Given the description of an element on the screen output the (x, y) to click on. 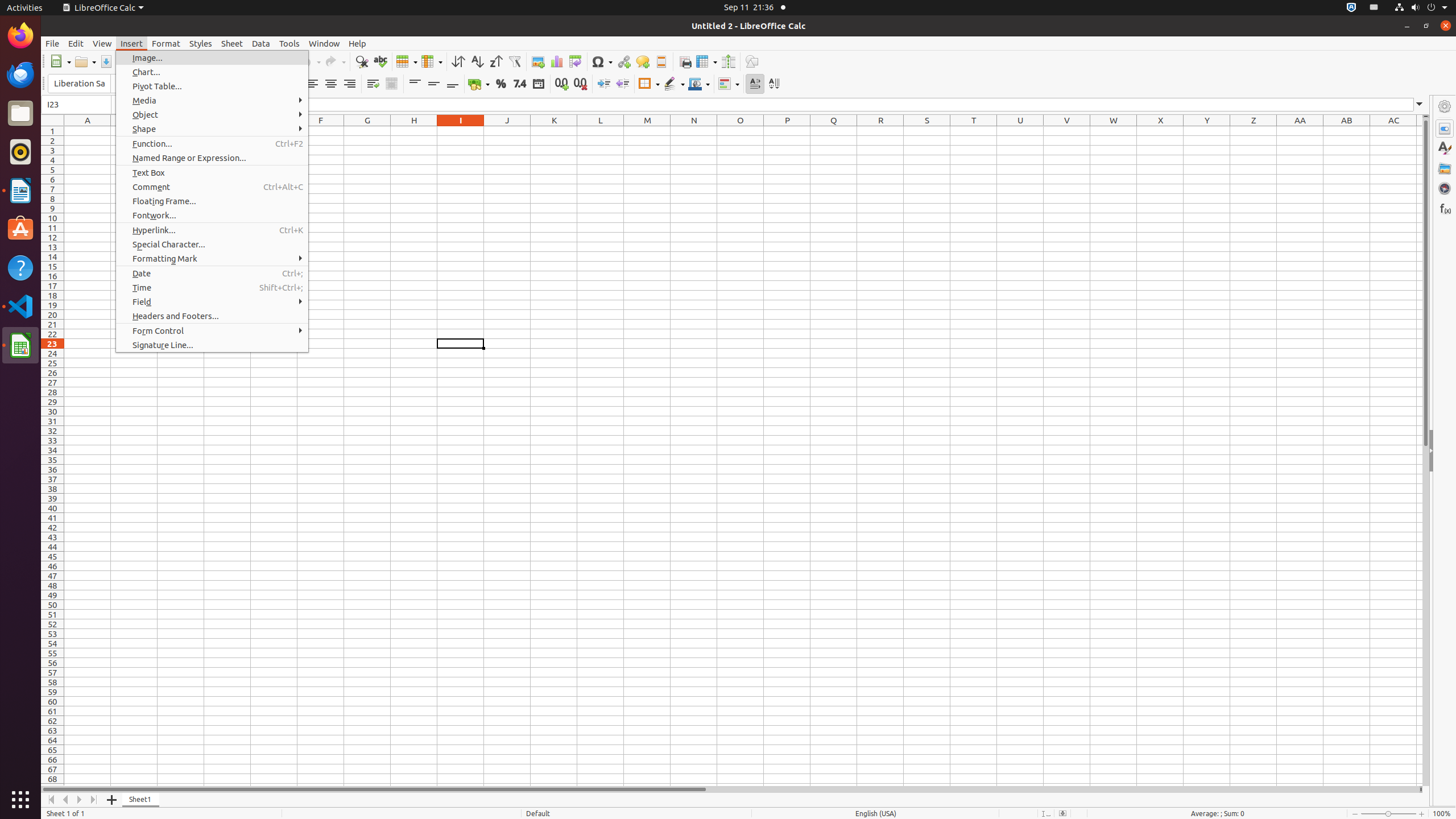
Function... Element type: menu-item (212, 143)
Object Element type: menu (212, 114)
Shape Element type: menu (212, 128)
IsaHelpMain.desktop Element type: label (75, 170)
Pivot Table... Element type: menu-item (212, 86)
